Given the description of an element on the screen output the (x, y) to click on. 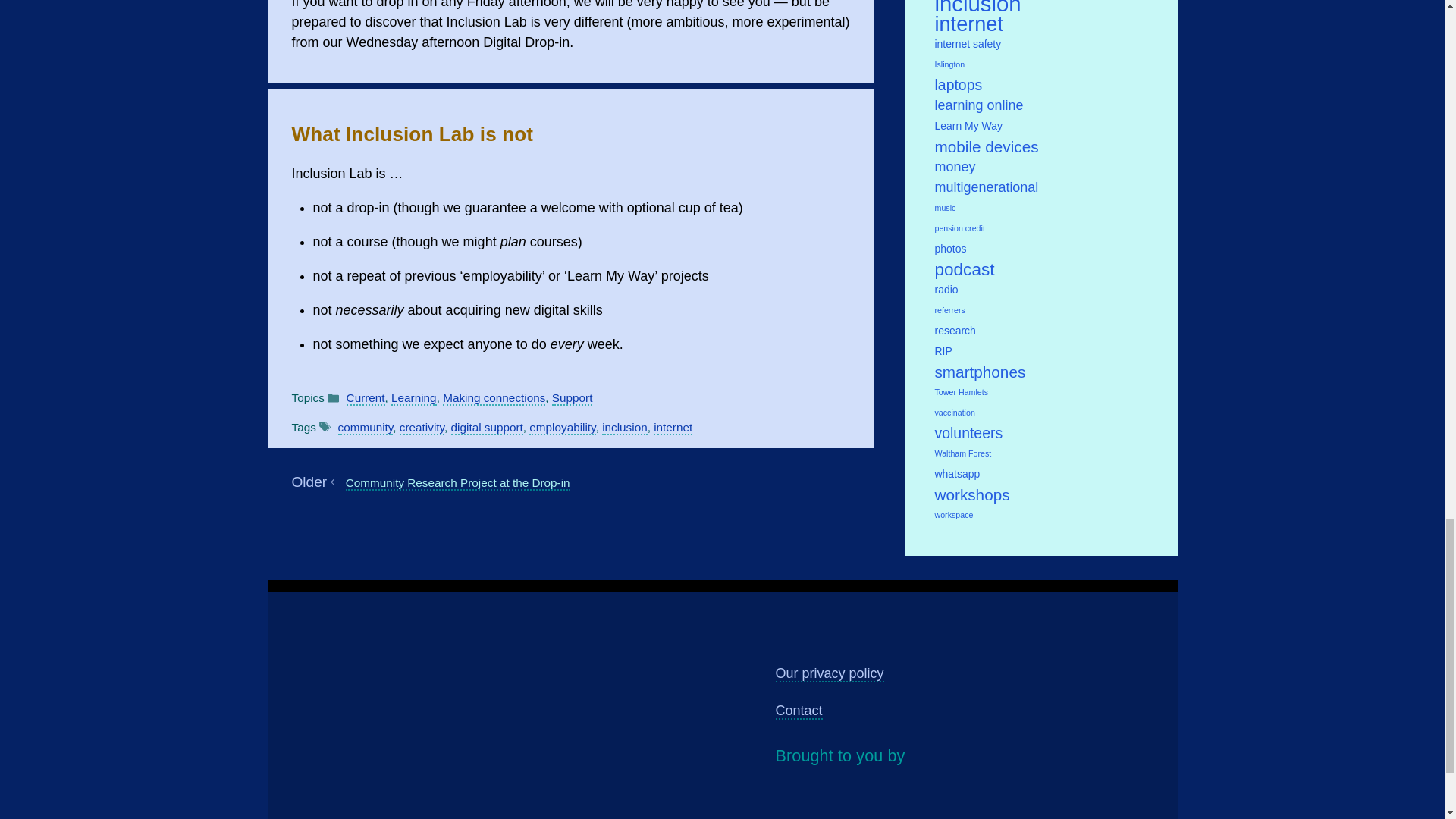
inclusion (624, 427)
Organised by (941, 798)
creativity (421, 427)
internet (673, 427)
employability (562, 427)
community (365, 427)
Community Research Project at the Drop-in (458, 482)
Learning (413, 398)
Support (571, 398)
Current (365, 398)
Making connections (493, 398)
digital support (486, 427)
